Given the description of an element on the screen output the (x, y) to click on. 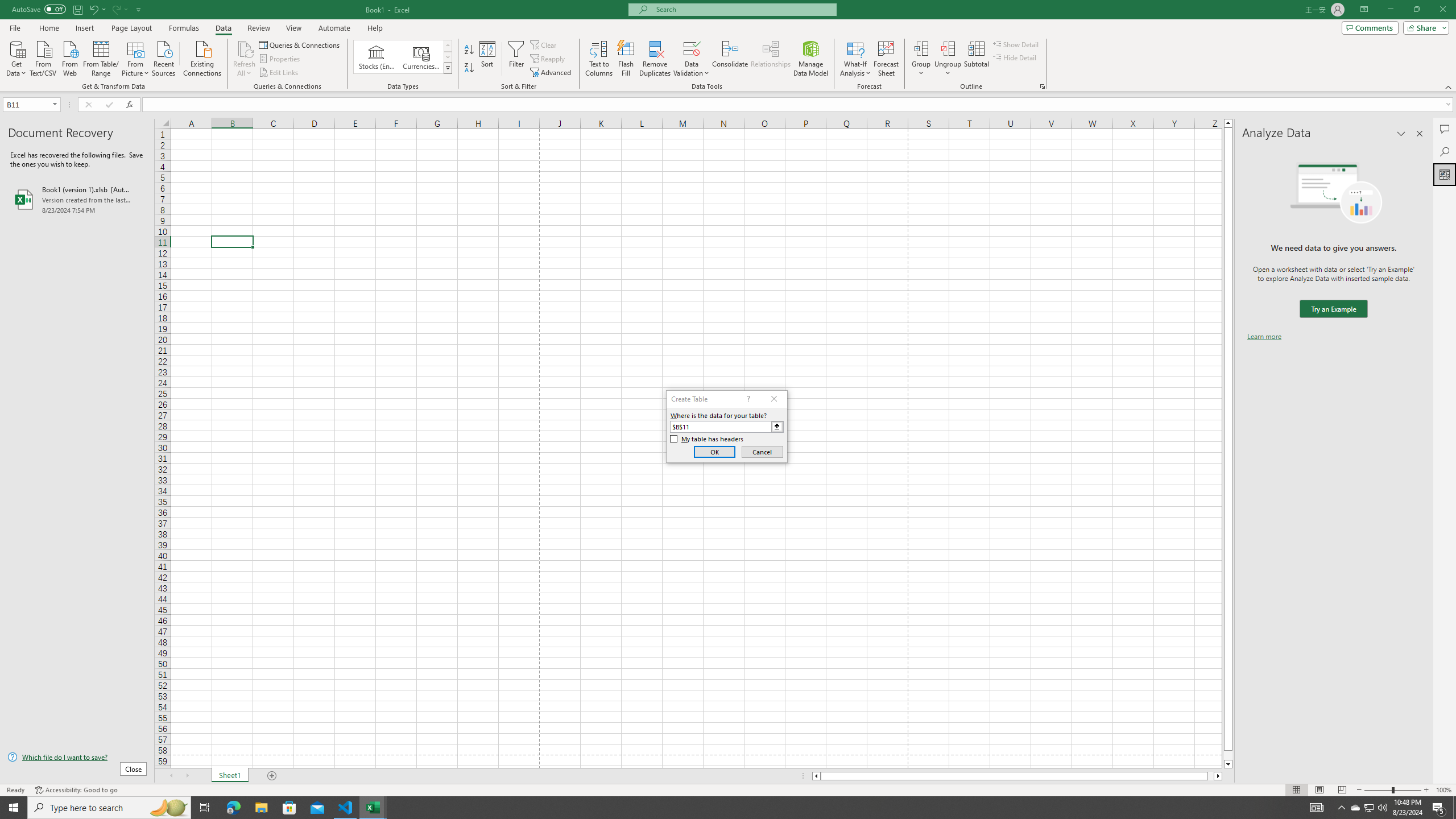
Refresh All (244, 58)
Properties (280, 58)
Get Data (16, 57)
Stocks (English) (375, 56)
Microsoft search (742, 9)
Relationships (770, 58)
Which file do I want to save? (77, 757)
Remove Duplicates (654, 58)
